Given the description of an element on the screen output the (x, y) to click on. 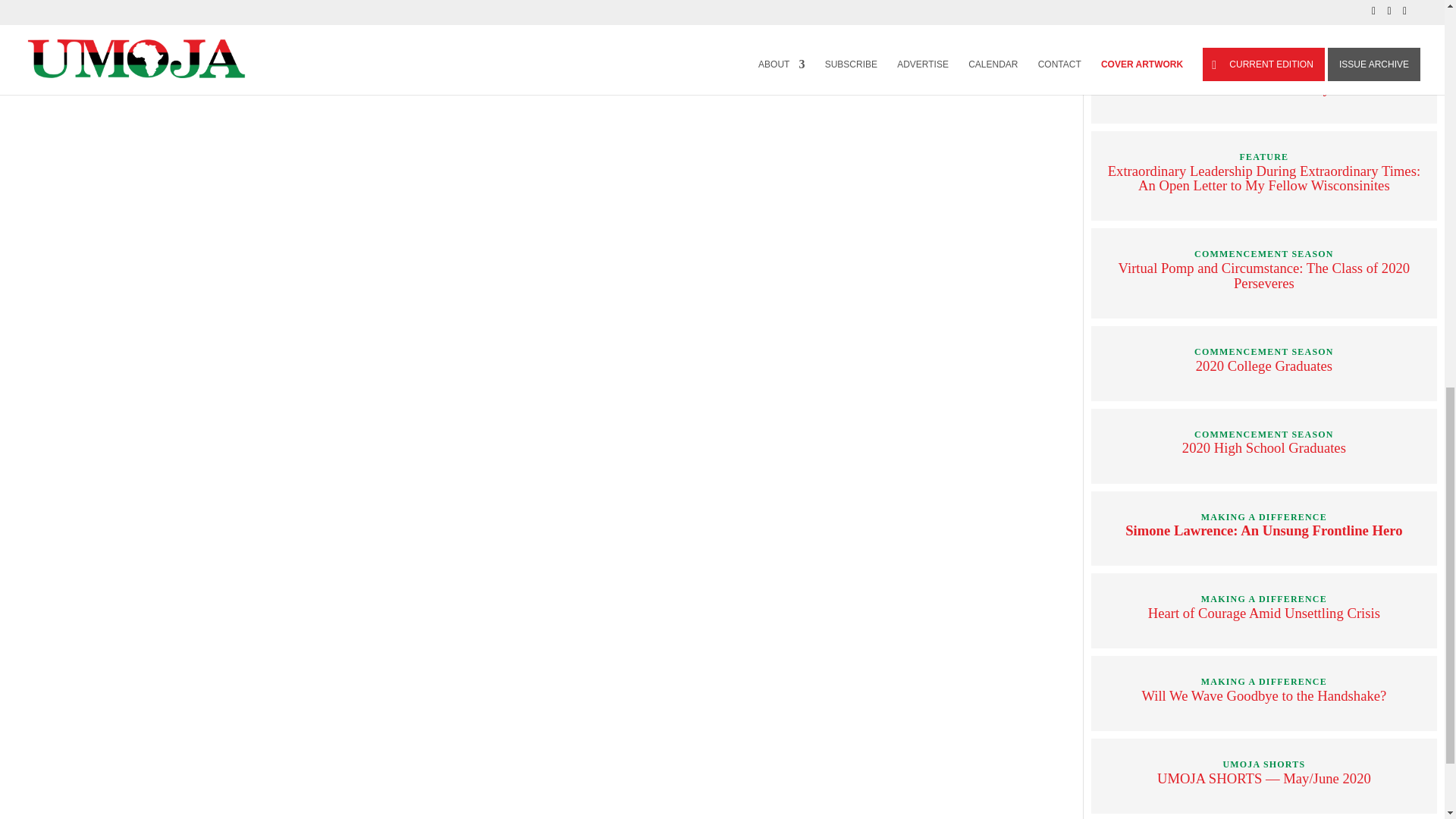
Virtual Pomp and Circumstance: The Class of 2020 Perseveres (1264, 275)
The Road to Residency (1264, 88)
Simone Lawrence: An Unsung Frontline Hero (1263, 530)
2020 College Graduates (1263, 365)
2020 High School Graduates (1263, 447)
